Given the description of an element on the screen output the (x, y) to click on. 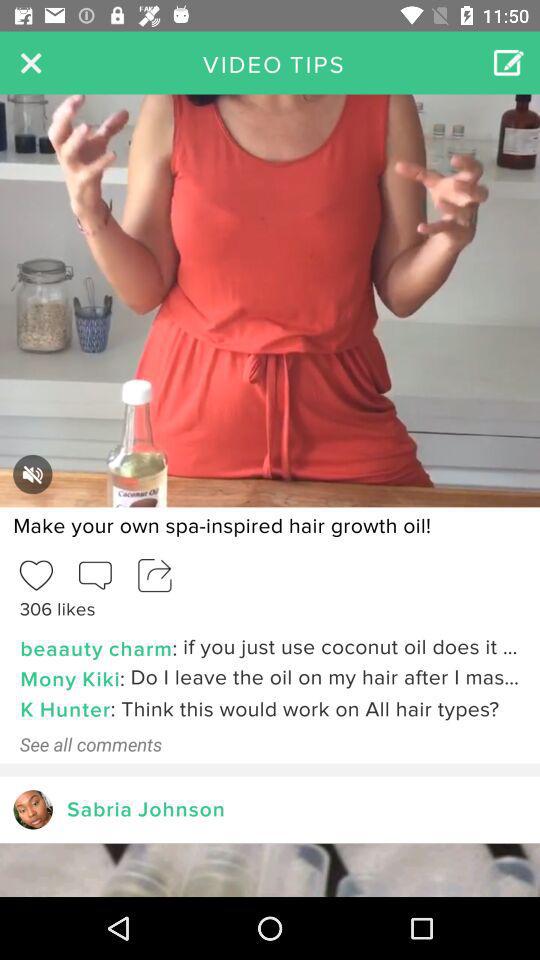
profile page (32, 809)
